Given the description of an element on the screen output the (x, y) to click on. 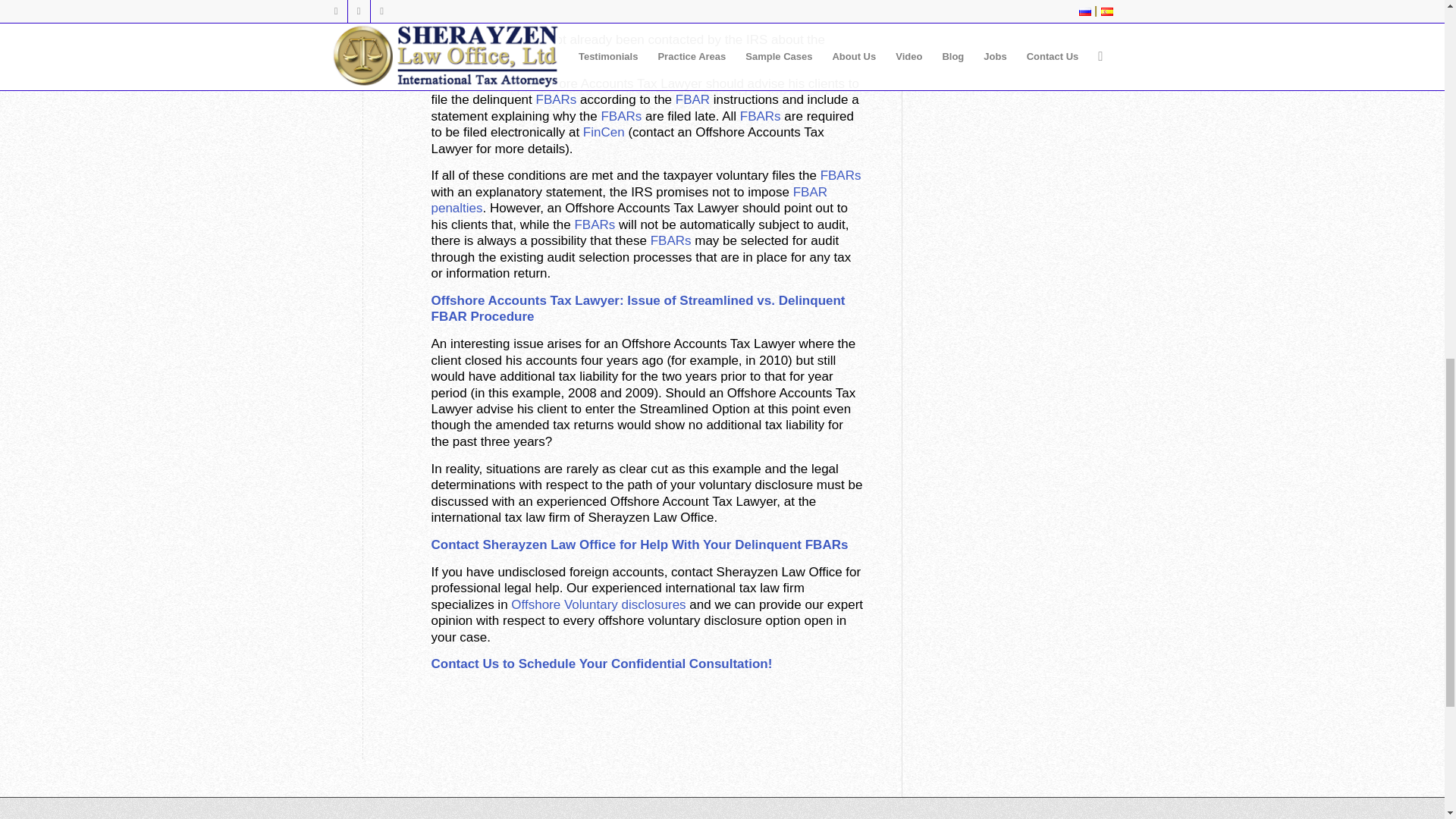
FBARs (555, 99)
FBARs (515, 56)
FBAR Penalties (628, 200)
Contact Offshore Accounts Tax Lawyer (600, 663)
